Given the description of an element on the screen output the (x, y) to click on. 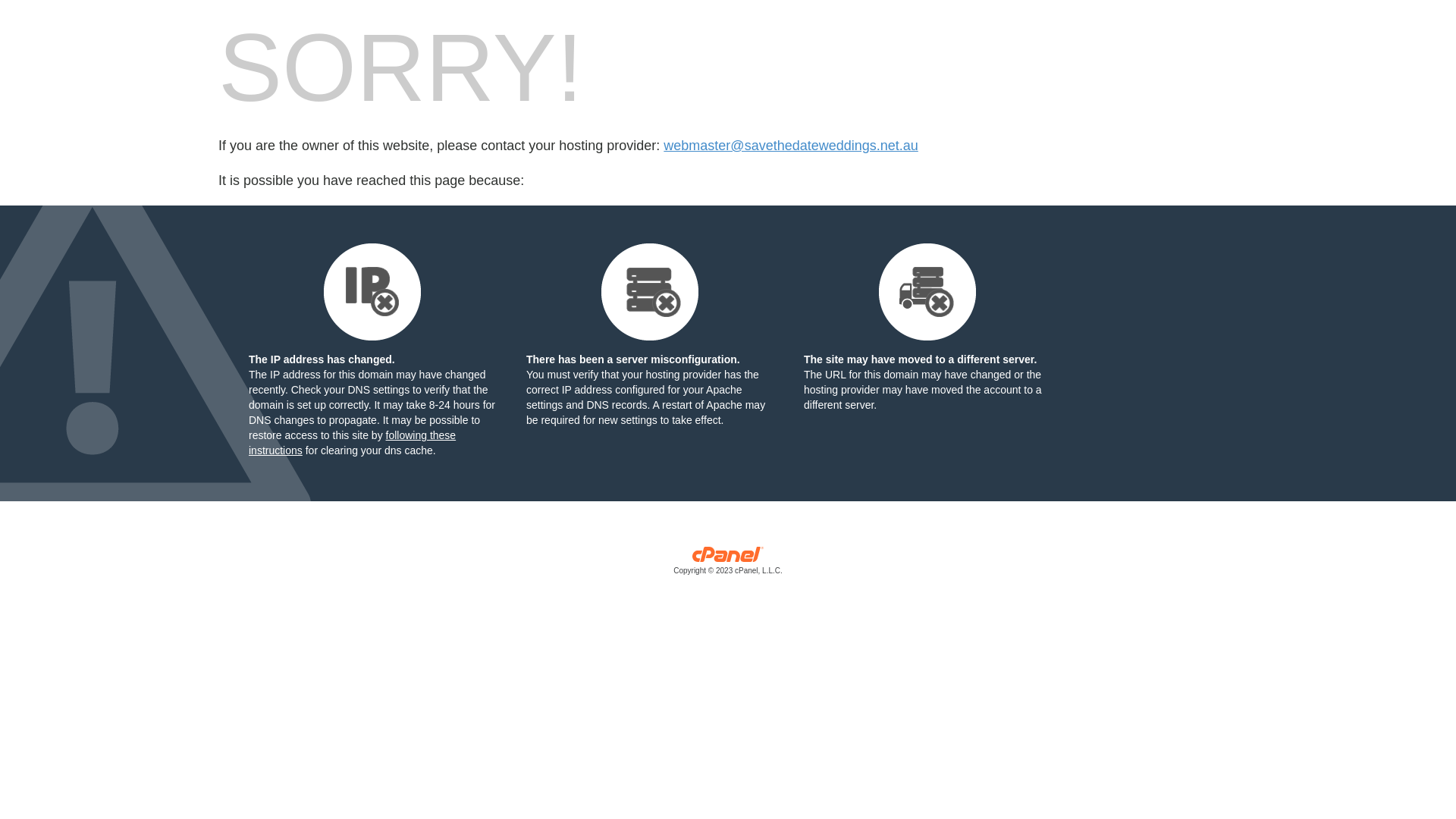
webmaster@savethedateweddings.net.au Element type: text (790, 145)
following these instructions Element type: text (351, 442)
